Given the description of an element on the screen output the (x, y) to click on. 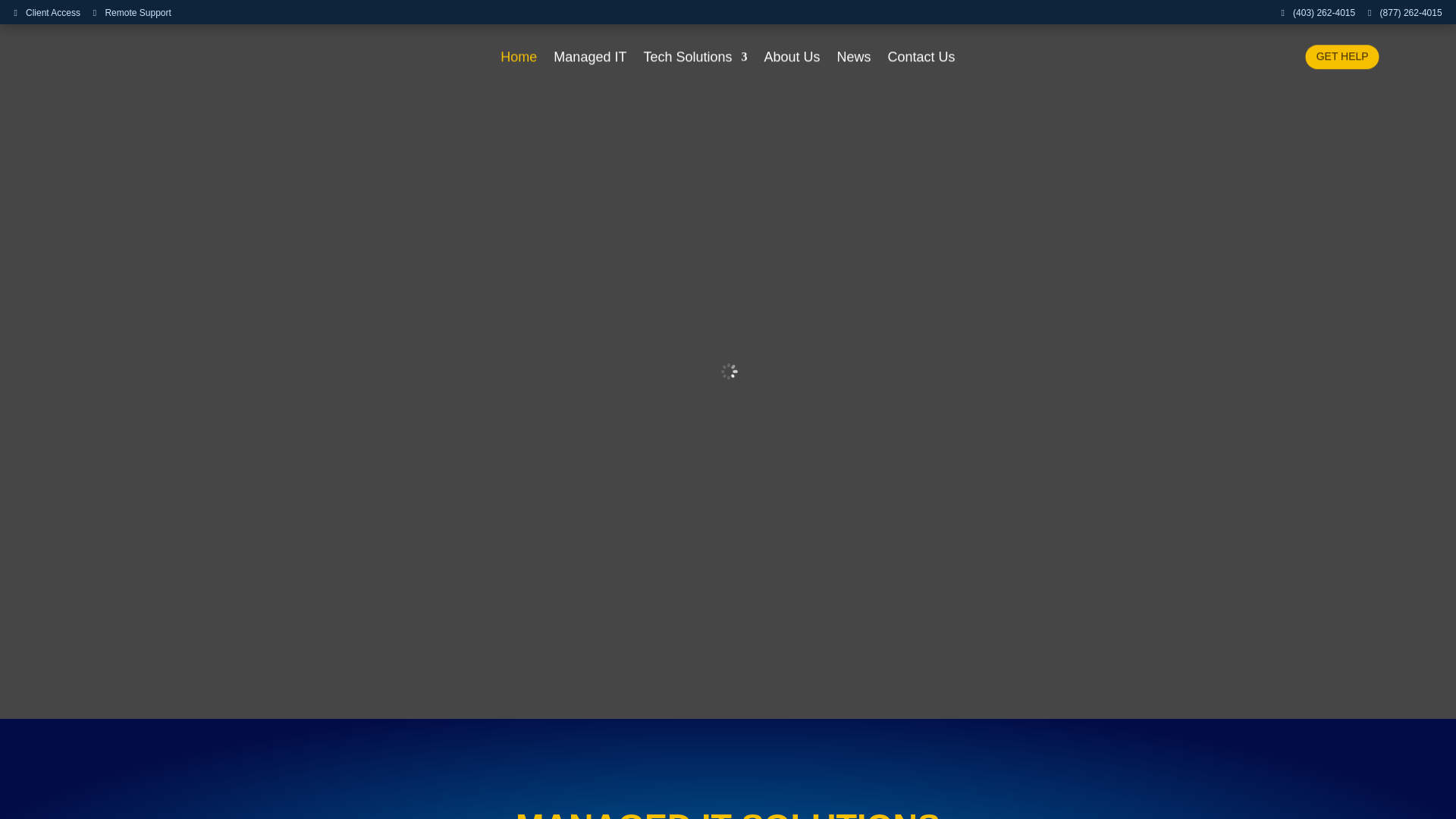
Tech Solutions (694, 59)
About Us (792, 59)
Managed IT (589, 59)
Contact Us (921, 59)
GET HELP (1342, 56)
News (853, 59)
Remote Support (131, 12)
Home (518, 59)
Client Access (46, 12)
